Given the description of an element on the screen output the (x, y) to click on. 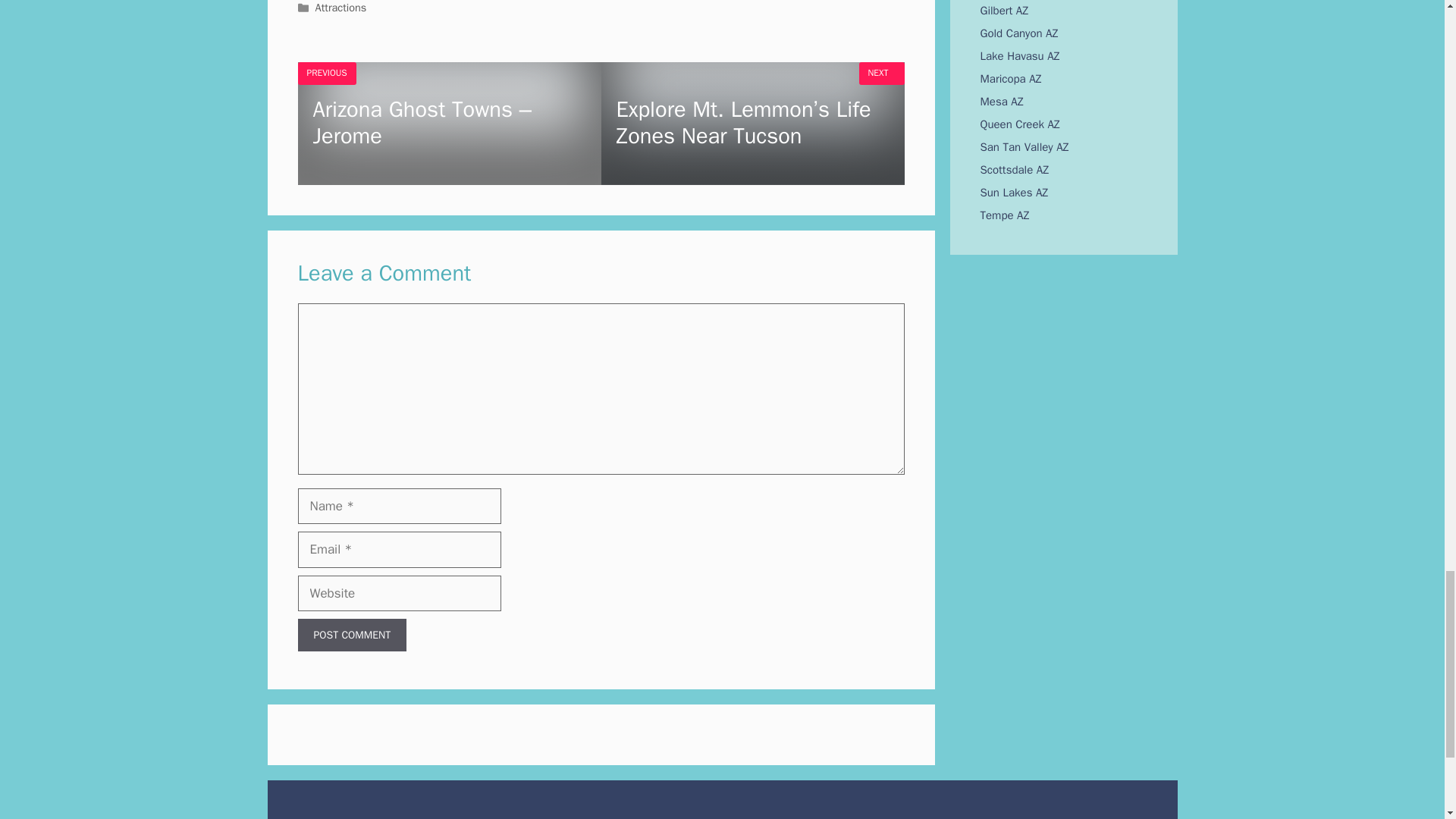
Attractions (340, 7)
Post Comment (351, 635)
Post Comment (351, 635)
